Given the description of an element on the screen output the (x, y) to click on. 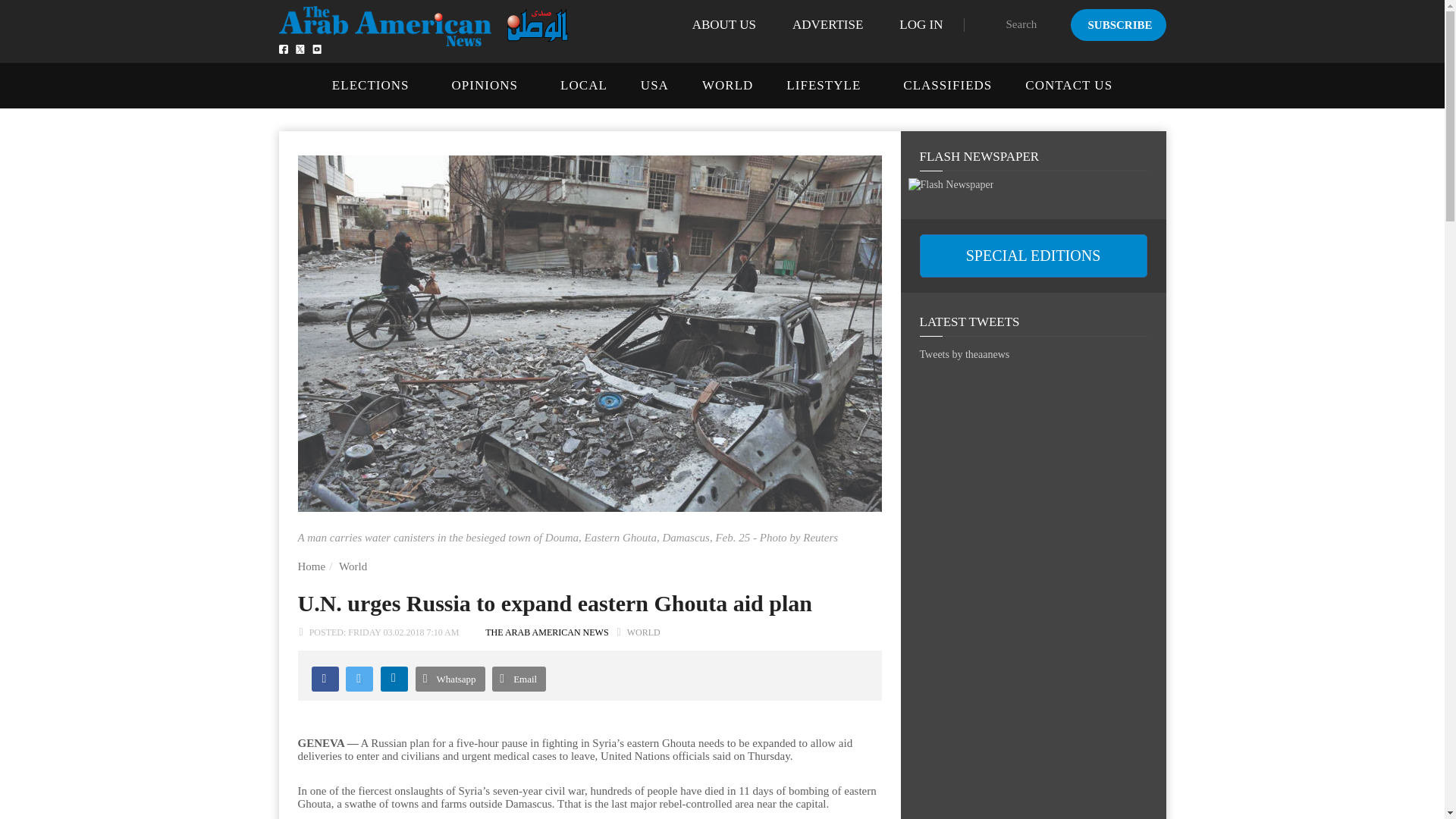
LOG IN (920, 24)
ADVERTISE (827, 24)
LOCAL (583, 84)
CONTACT US (1068, 84)
Home (310, 566)
World (352, 566)
World (352, 566)
ABOUT US (724, 24)
ELECTIONS (370, 84)
View all posts in World (644, 632)
